Given the description of an element on the screen output the (x, y) to click on. 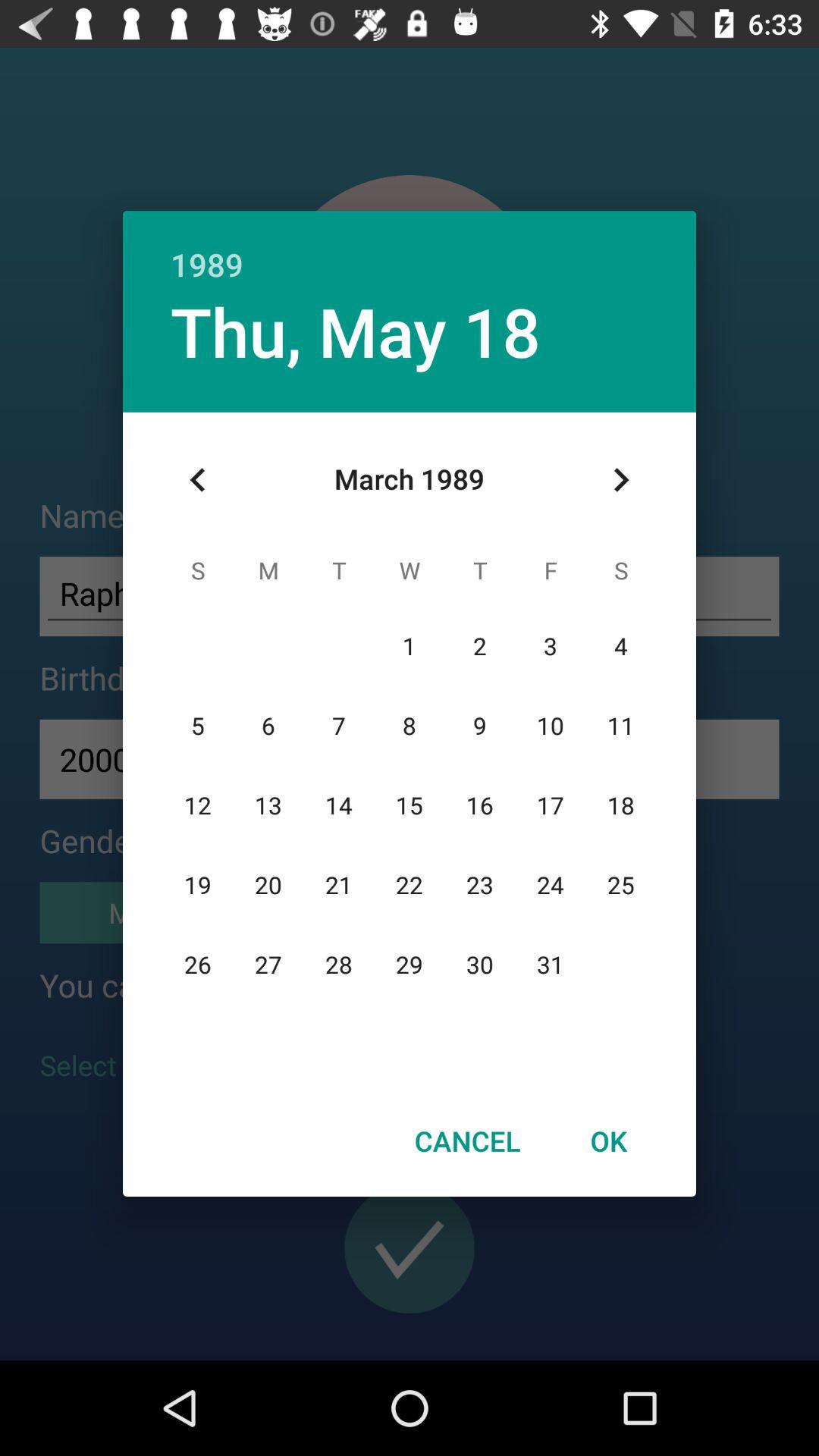
click icon at the top left corner (197, 479)
